Given the description of an element on the screen output the (x, y) to click on. 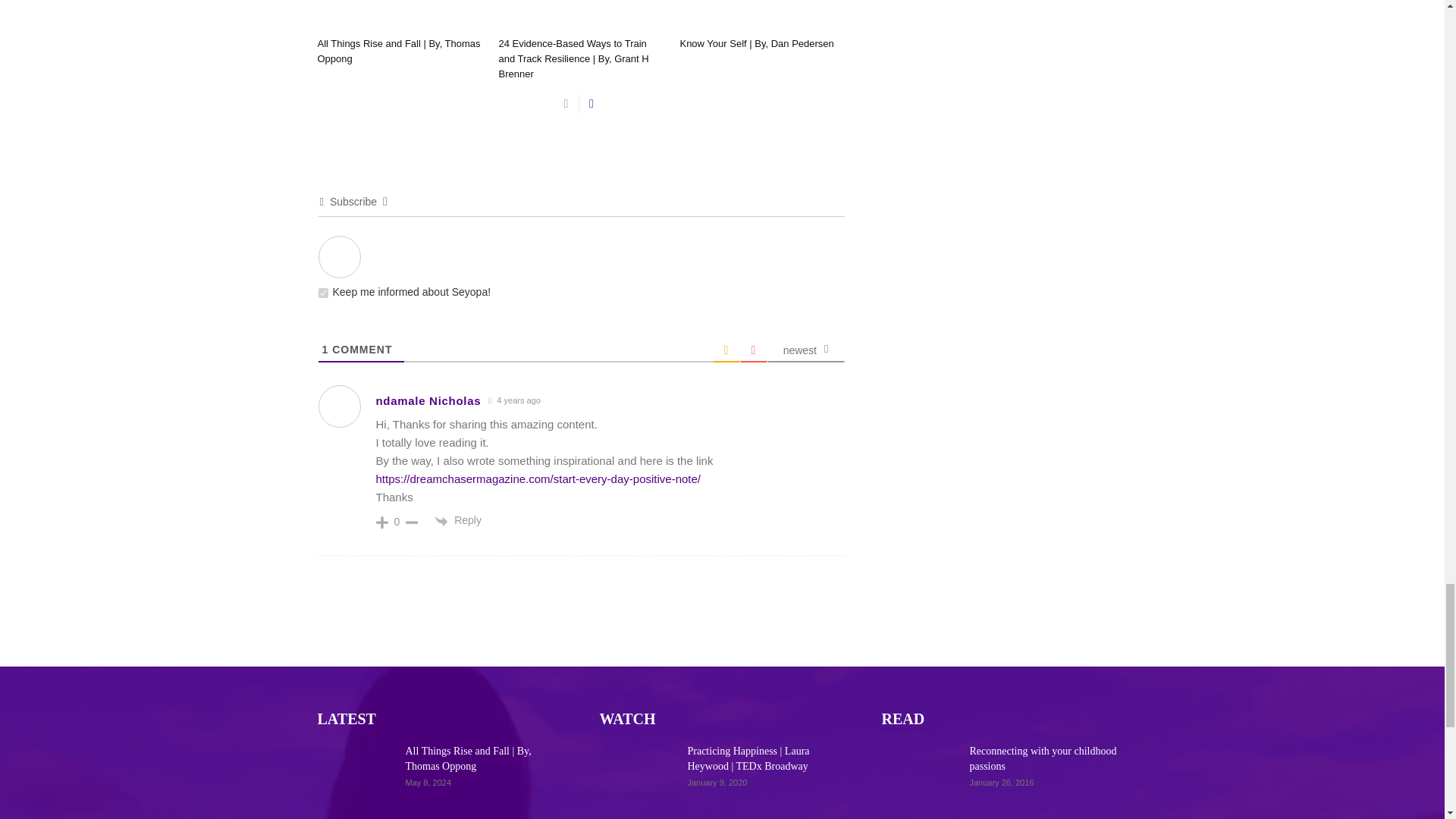
1 (323, 293)
